Given the description of an element on the screen output the (x, y) to click on. 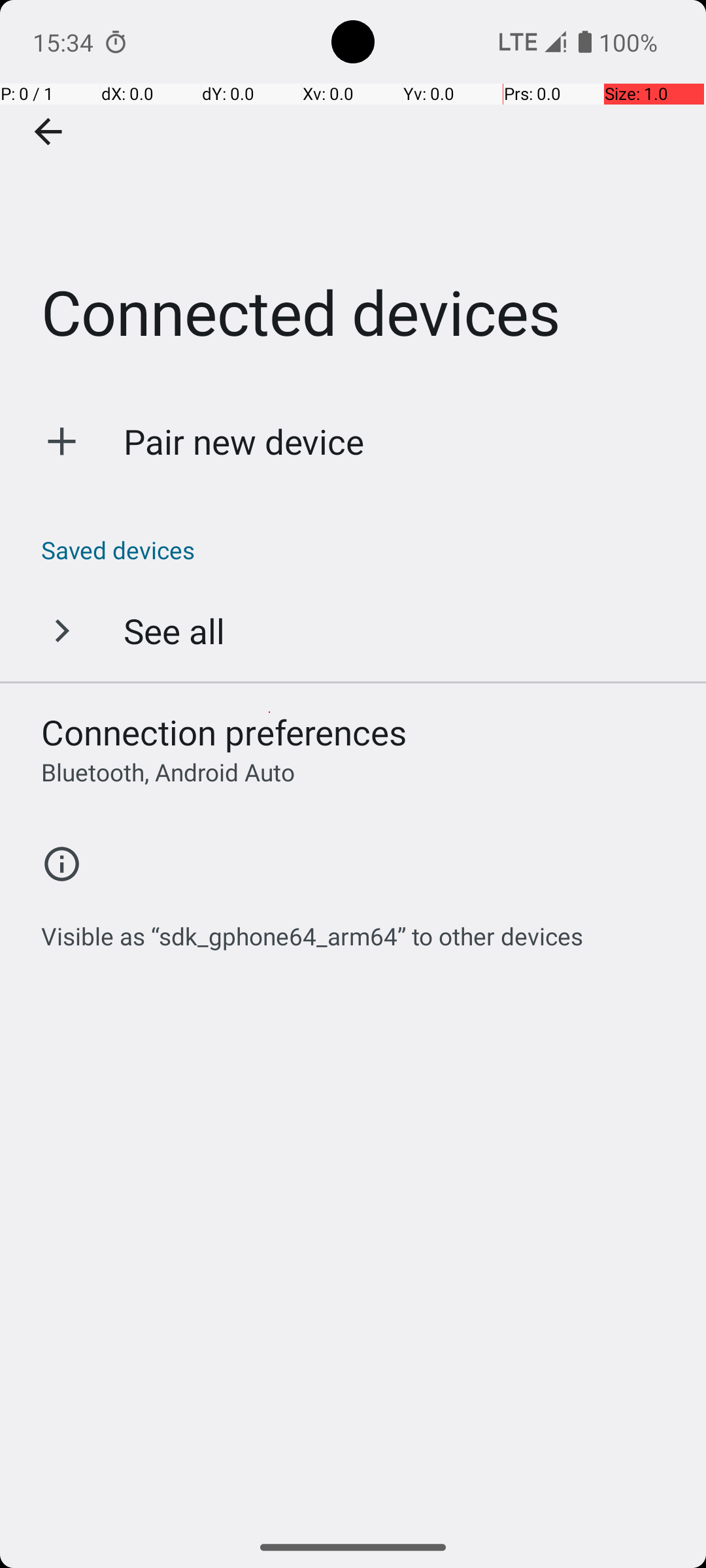
Pair new device Element type: android.widget.TextView (243, 441)
Saved devices Element type: android.widget.TextView (359, 549)
See all Element type: android.widget.TextView (173, 630)
Connection preferences Element type: android.widget.TextView (224, 731)
Bluetooth, Android Auto Element type: android.widget.TextView (167, 771)
Visible as “sdk_gphone64_arm64” to other devices Element type: android.widget.TextView (312, 928)
